Given the description of an element on the screen output the (x, y) to click on. 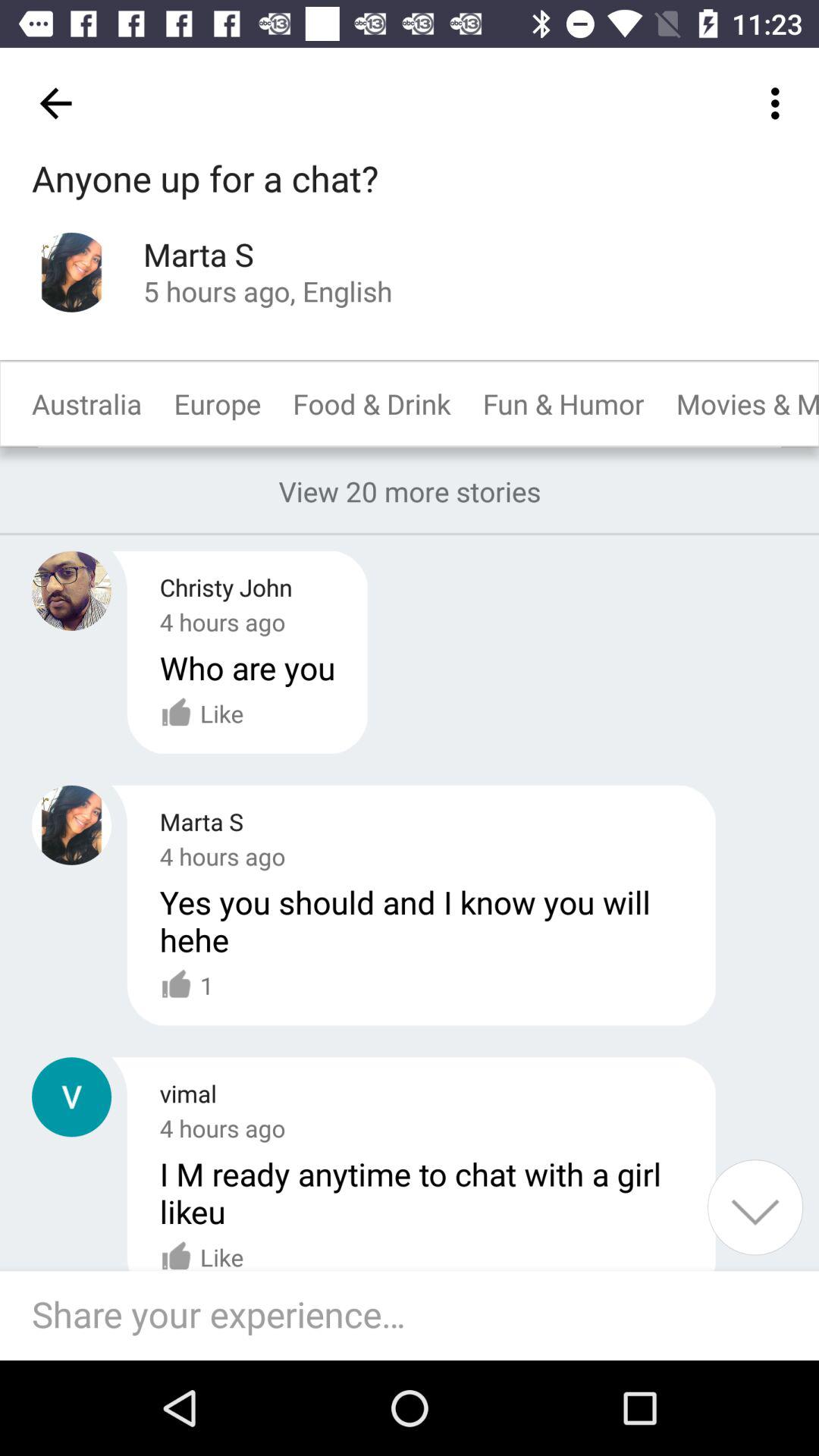
share your experience (417, 1315)
